Given the description of an element on the screen output the (x, y) to click on. 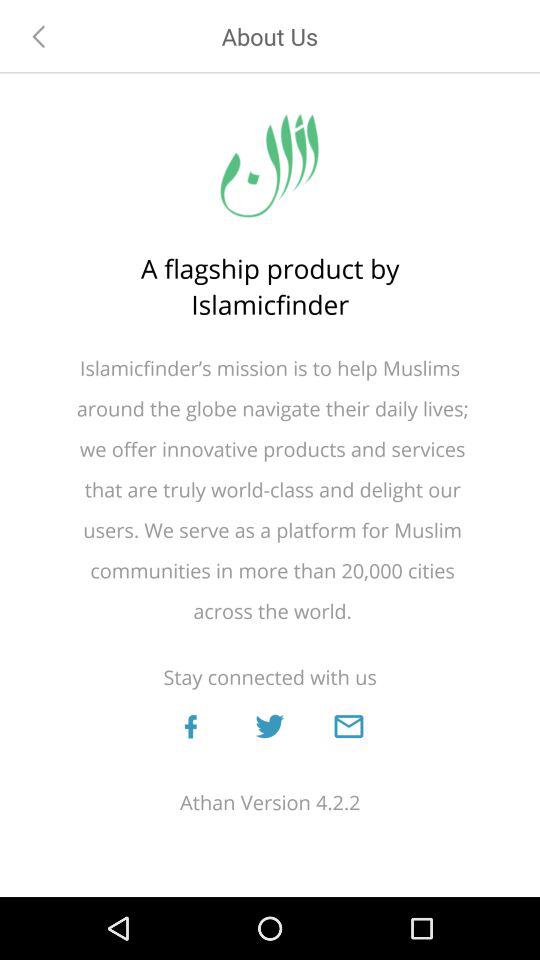
follow on twitter (269, 726)
